Given the description of an element on the screen output the (x, y) to click on. 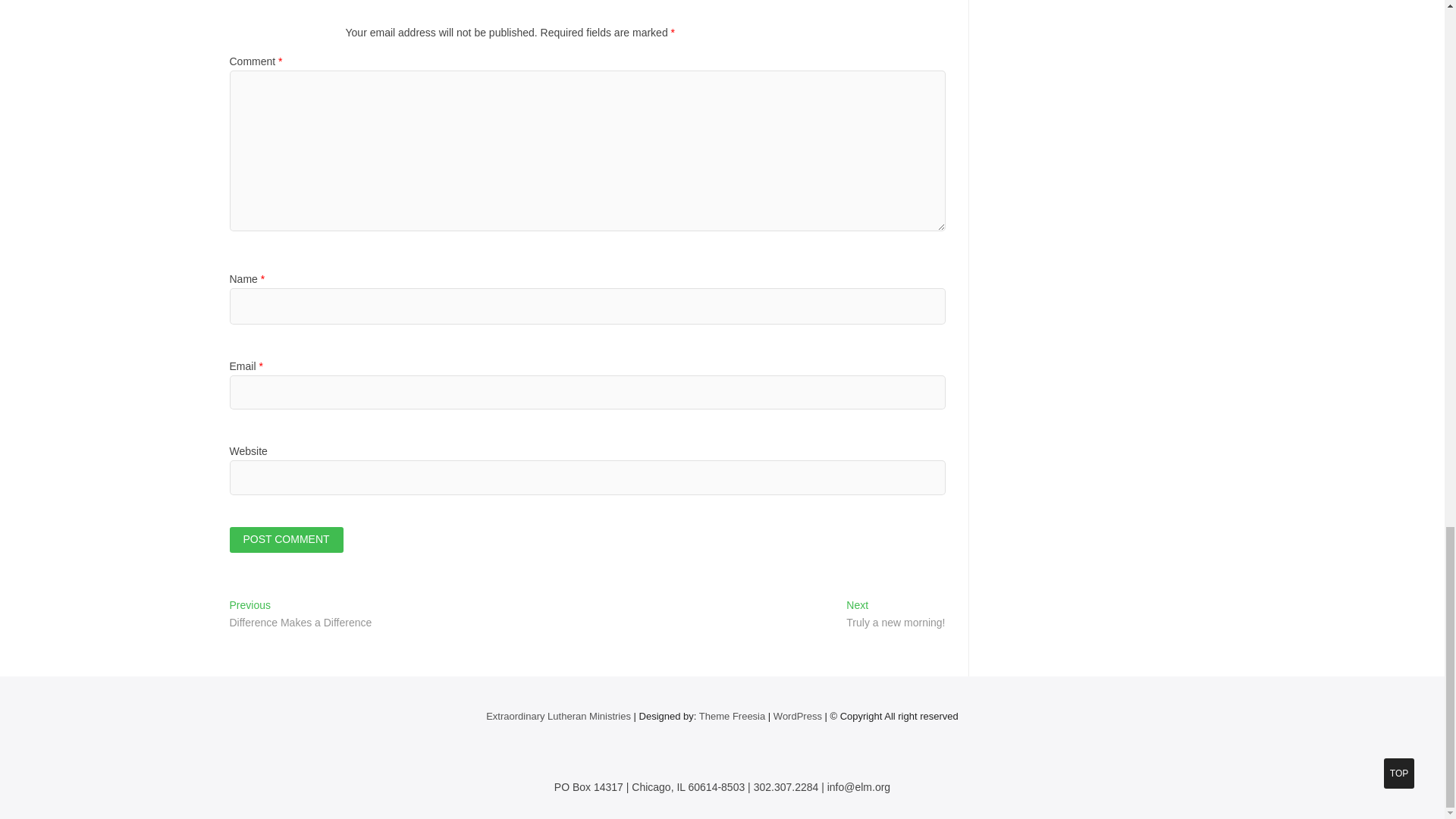
WordPress (797, 715)
Theme Freesia (731, 715)
Post Comment (285, 539)
Extraordinary Lutheran Ministries (558, 715)
